Given the description of an element on the screen output the (x, y) to click on. 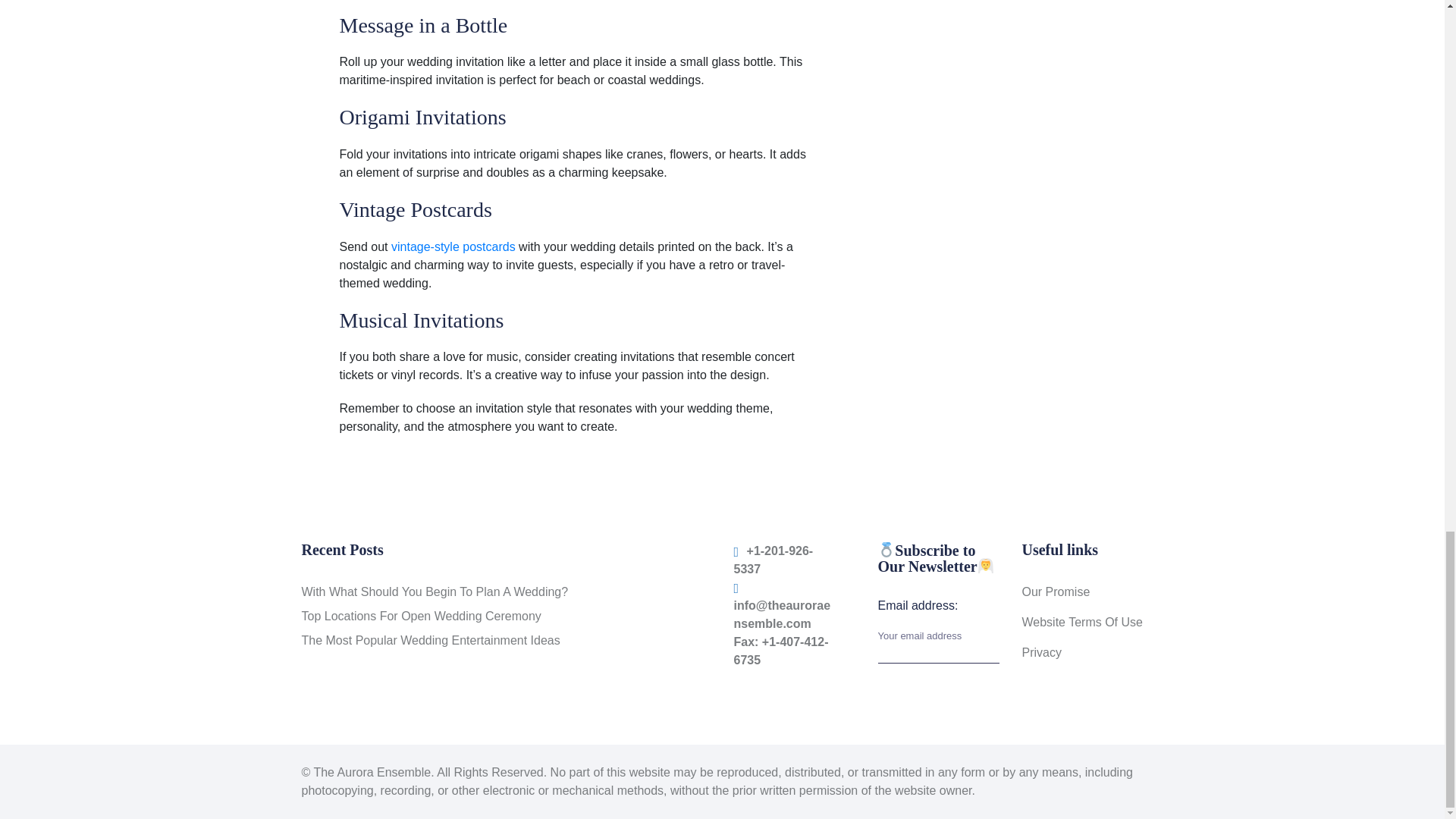
The Most Popular Wedding Entertainment Ideas (430, 640)
vintage-style postcards (453, 246)
Privacy (1041, 652)
Sign up (980, 612)
Our Promise (1056, 591)
Top Locations For Open Wedding Ceremony (421, 615)
Sign up (980, 612)
With What Should You Begin To Plan A Wedding? (435, 591)
vintage-style postcards (453, 246)
Website Terms Of Use (1082, 621)
